Given the description of an element on the screen output the (x, y) to click on. 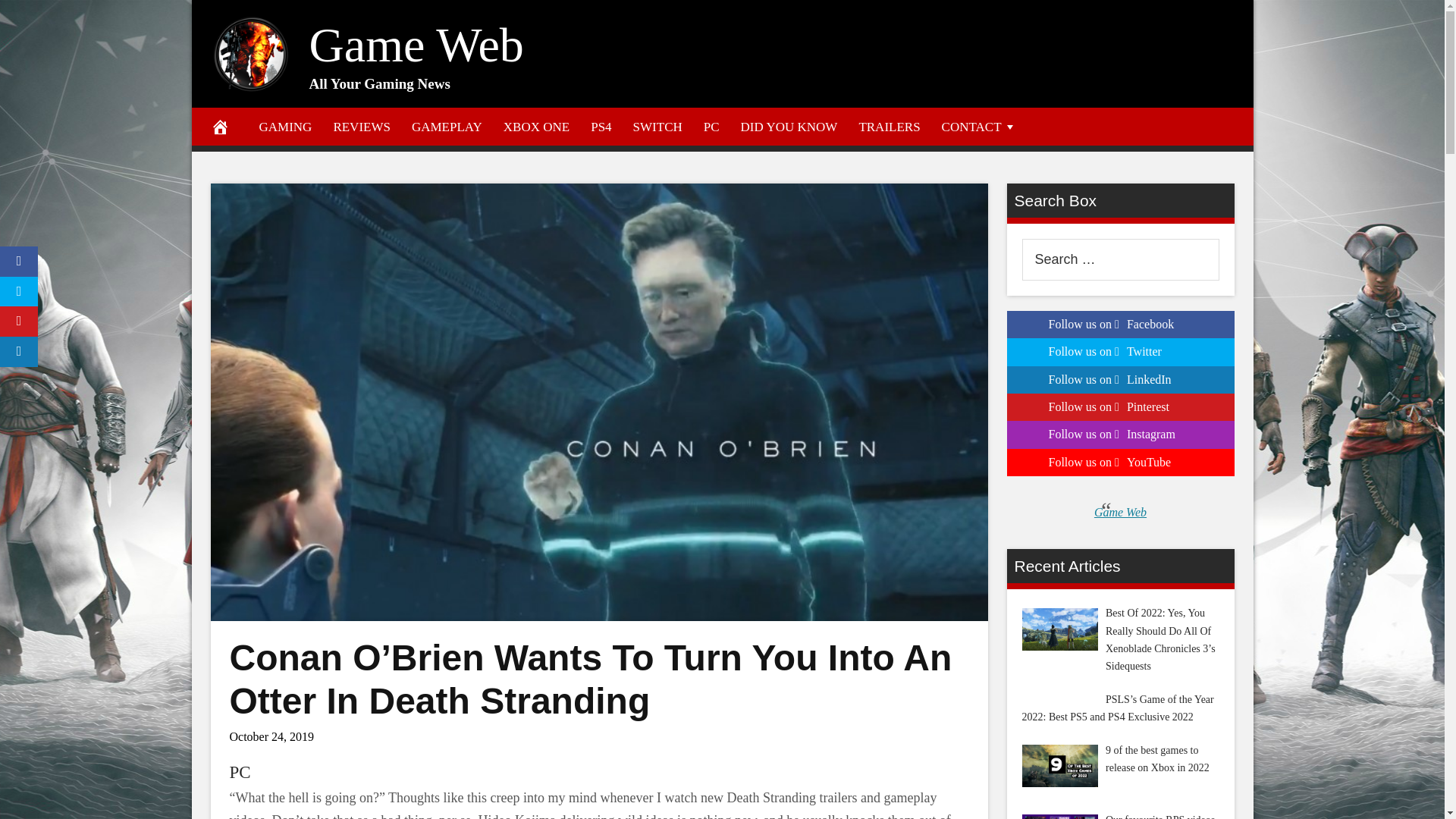
PC (239, 772)
GAMING (285, 126)
DID YOU KNOW (789, 126)
TRAILERS (888, 126)
PC (711, 126)
REVIEWS (361, 126)
Game Web (416, 45)
CONTACT (979, 126)
XBOX ONE (536, 126)
PS4 (600, 126)
SWITCH (658, 126)
GAMEPLAY (447, 126)
